Given the description of an element on the screen output the (x, y) to click on. 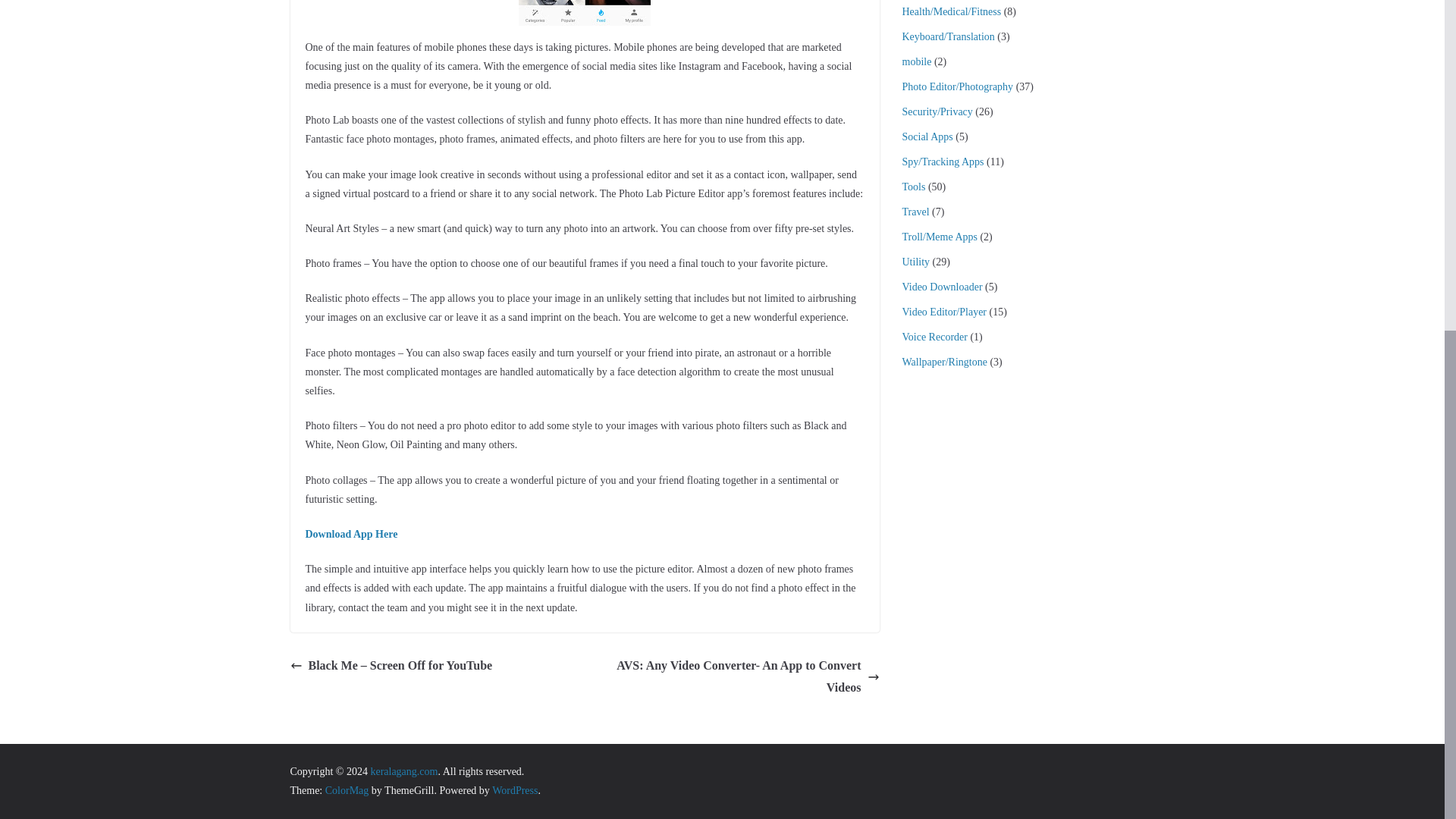
Voice Recorder (935, 337)
Social Apps (927, 136)
AVS: Any Video Converter- An App to Convert Videos (735, 677)
keralagang.com (403, 771)
Download App Here (350, 533)
ColorMag (346, 790)
Tools (914, 186)
mobile (916, 61)
WordPress (514, 790)
Travel (916, 211)
Video Downloader (942, 286)
Utility (916, 261)
